Given the description of an element on the screen output the (x, y) to click on. 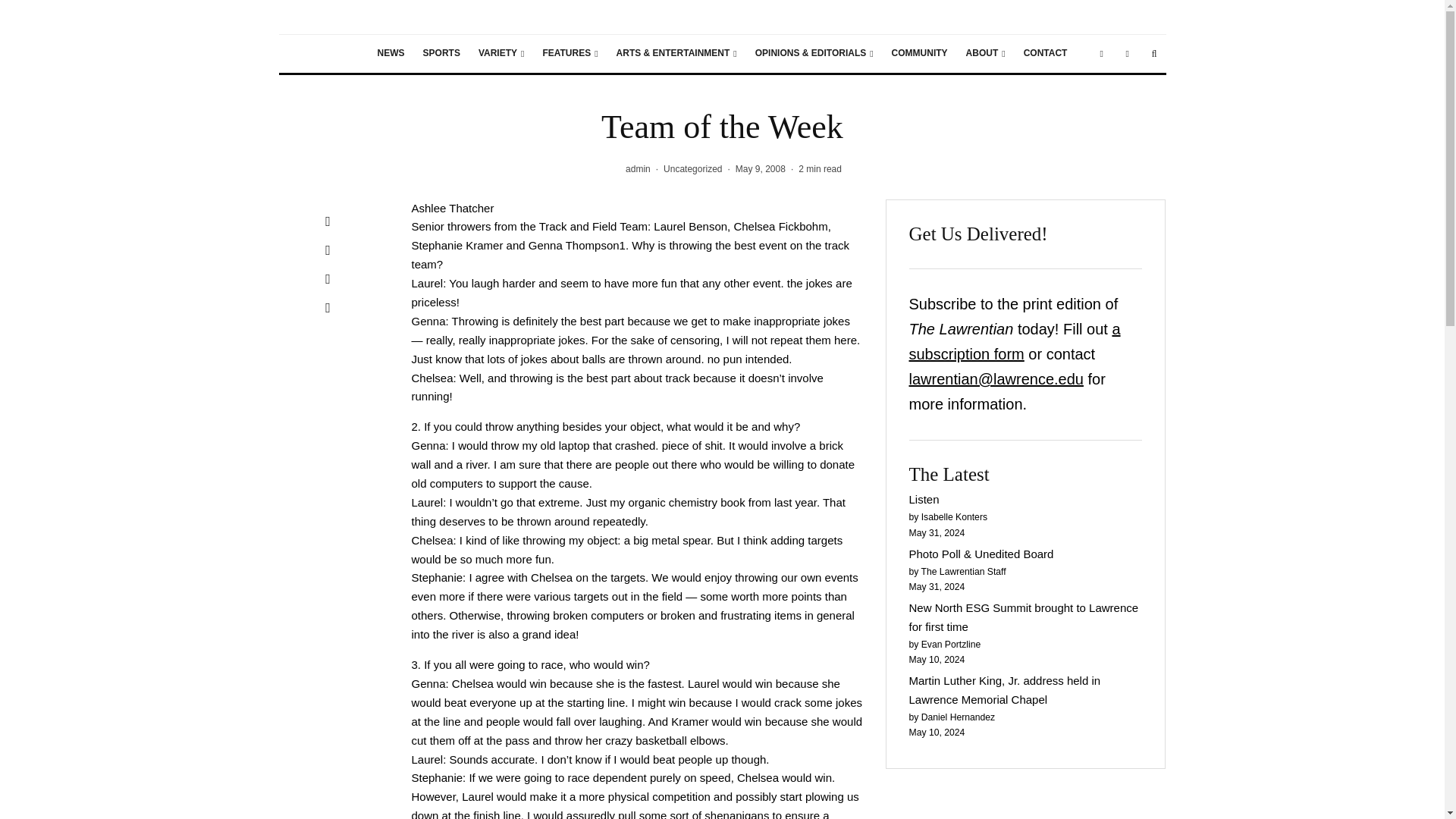
SPORTS (440, 53)
Posts by admin (638, 168)
FEATURES (569, 53)
VARIETY (501, 53)
NEWS (390, 53)
